Given the description of an element on the screen output the (x, y) to click on. 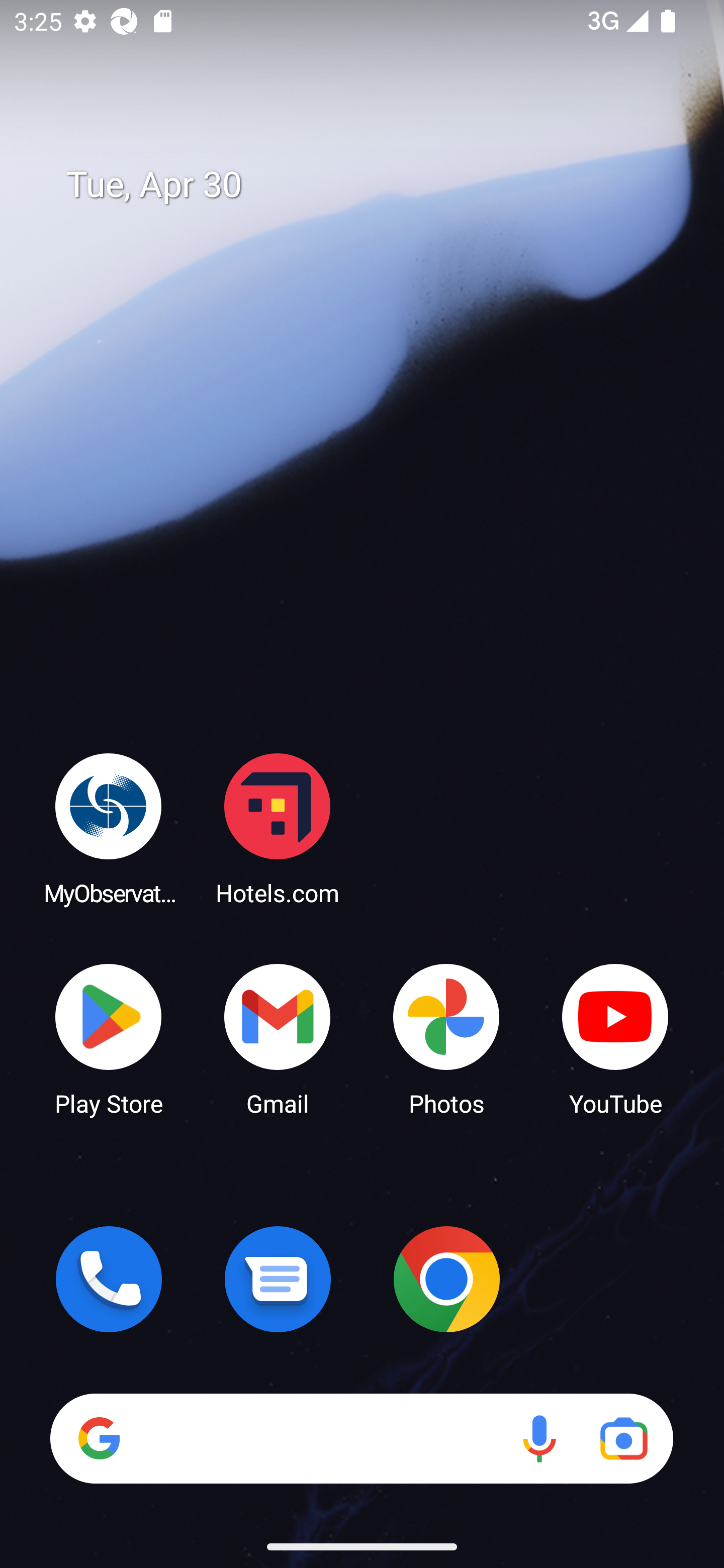
Tue, Apr 30 (375, 184)
MyObservatory (108, 828)
Hotels.com (277, 828)
Play Store (108, 1038)
Gmail (277, 1038)
Photos (445, 1038)
YouTube (615, 1038)
Phone (108, 1279)
Messages (277, 1279)
Chrome (446, 1279)
Search Voice search Google Lens (361, 1438)
Voice search (539, 1438)
Google Lens (623, 1438)
